Given the description of an element on the screen output the (x, y) to click on. 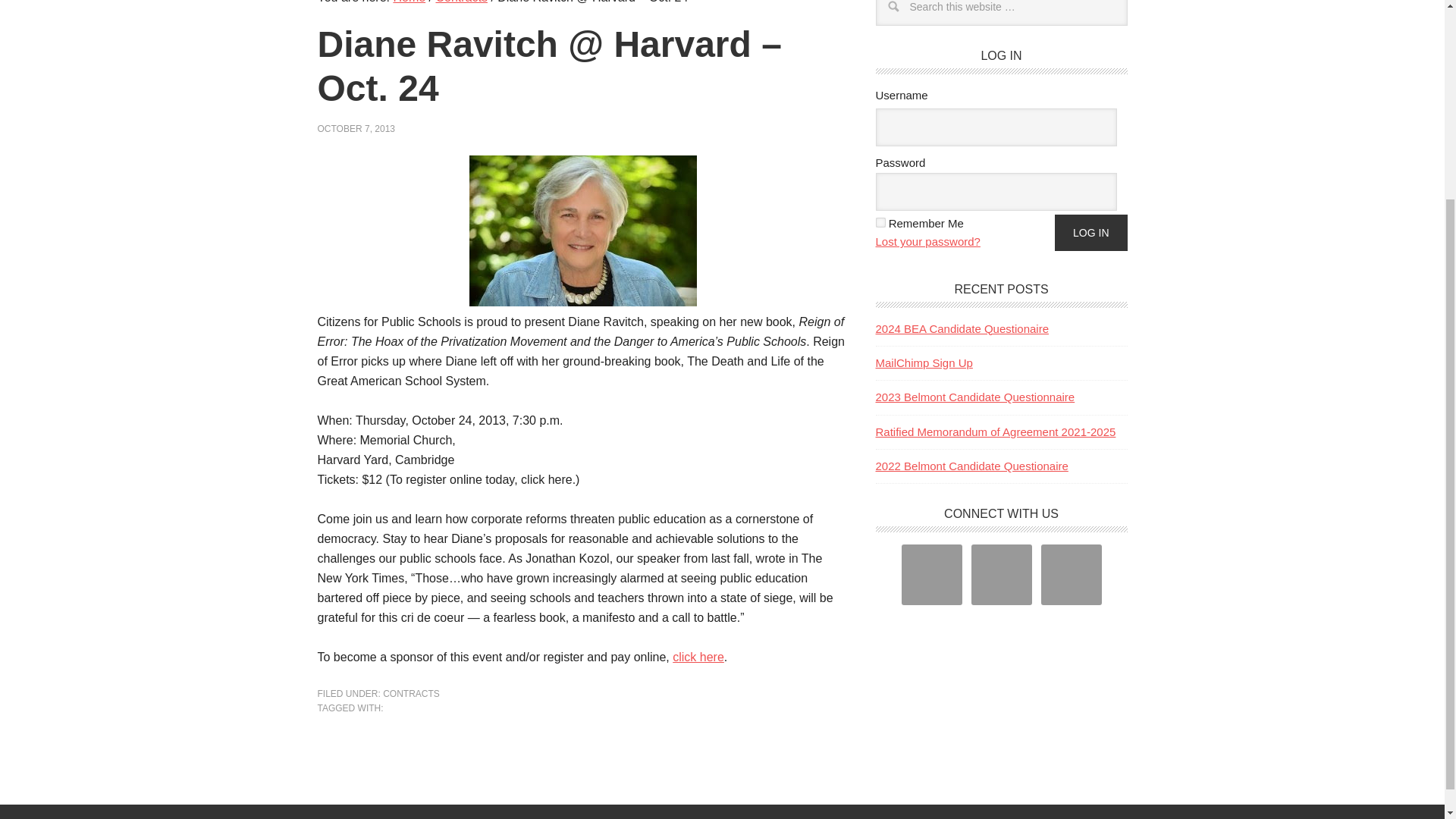
CONTRACTS (410, 693)
2024 BEA Candidate Questionaire (961, 327)
Home (409, 2)
Ratified Memorandum of Agreement 2021-2025 (995, 431)
click here (697, 656)
Log In (1090, 232)
Contracts (460, 2)
Log In (1090, 232)
forever (880, 222)
2023 Belmont Candidate Questionnaire (974, 396)
2022 Belmont Candidate Questionaire (971, 465)
Password Lost and Found (927, 241)
Lost your password? (927, 241)
MailChimp Sign Up (923, 362)
